Given the description of an element on the screen output the (x, y) to click on. 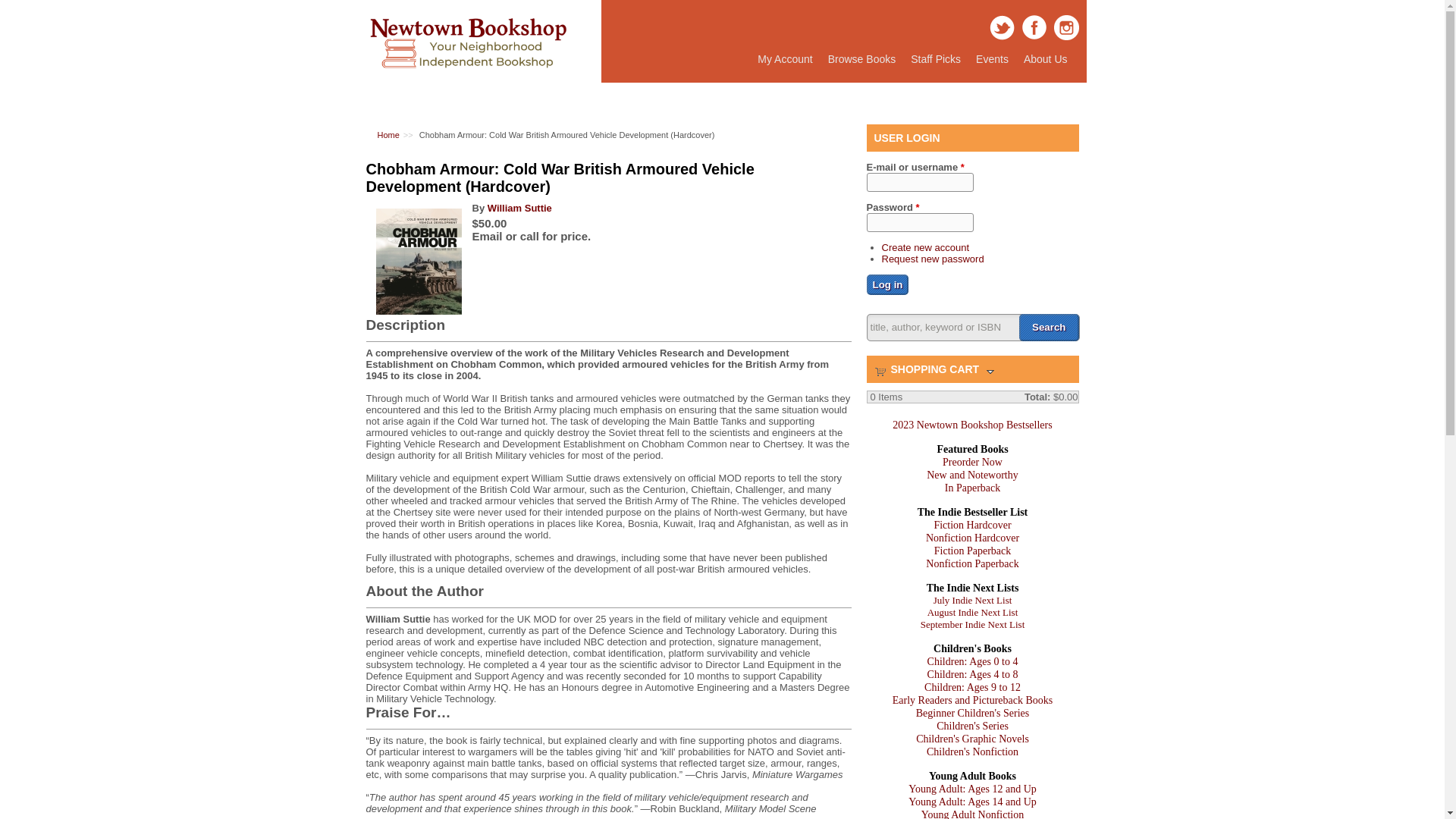
Children's Graphic Novels (972, 738)
Preorder Now (972, 461)
August Indie Next List (972, 612)
Children: Ages 0 to 4 (972, 661)
Nonfiction Paperback (971, 563)
Request new password (932, 258)
Log in (935, 58)
2023 Newtown Bookshop Bestsellers (887, 284)
Events (971, 424)
